Given the description of an element on the screen output the (x, y) to click on. 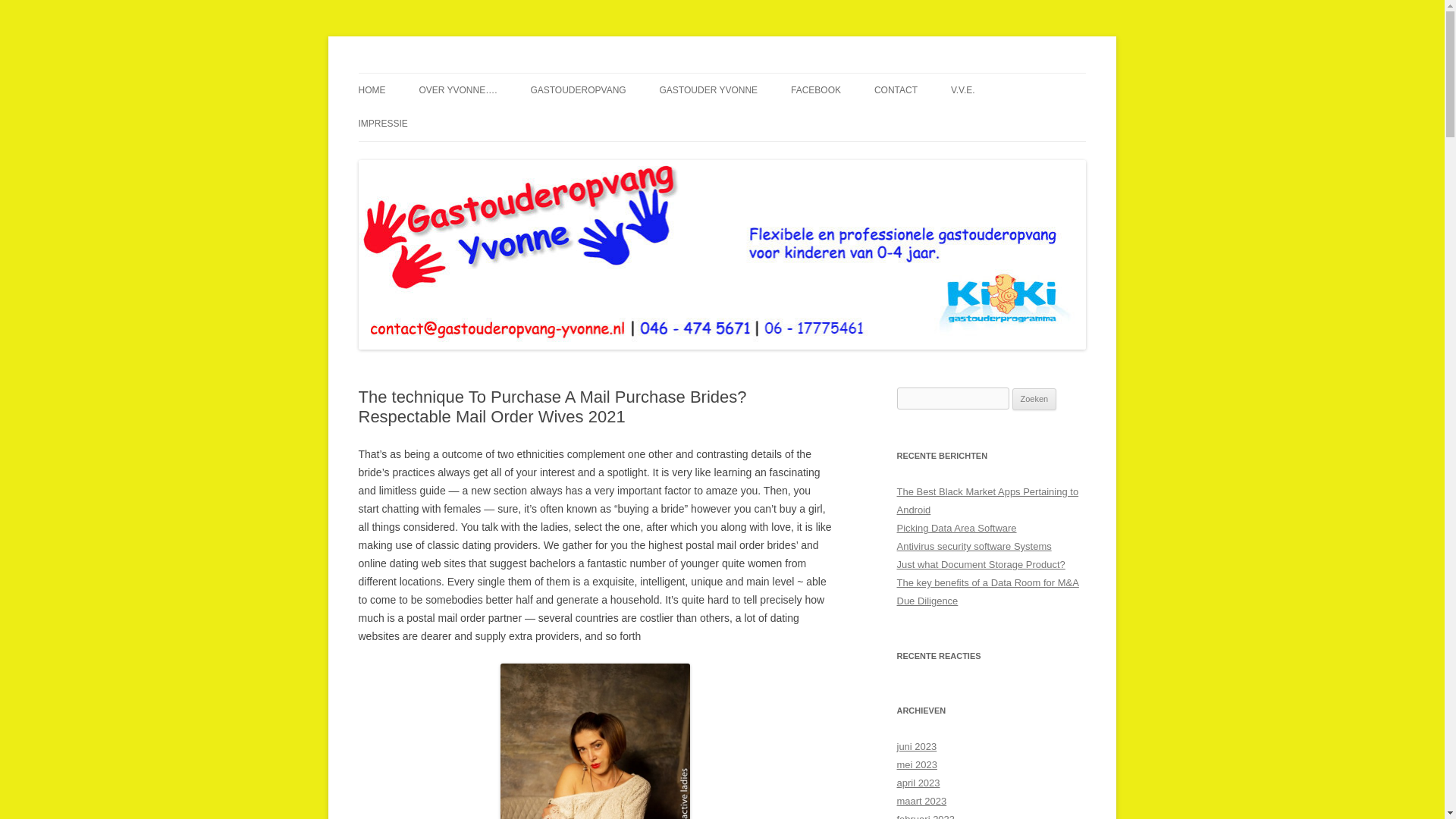
februari 2023 (925, 816)
WAT IS DAT? (605, 122)
Picking Data Area Software (956, 527)
GASTOUDER YVONNE (708, 90)
GASTOUDEROPVANG (577, 90)
mei 2023 (916, 764)
maart 2023 (921, 800)
Zoeken (1034, 399)
CONTACT (896, 90)
april 2023 (917, 782)
WERKWIJZE (734, 122)
Zoeken (1034, 399)
Gastouderopvang Yvonne (480, 72)
IMPRESSIE (382, 123)
